Given the description of an element on the screen output the (x, y) to click on. 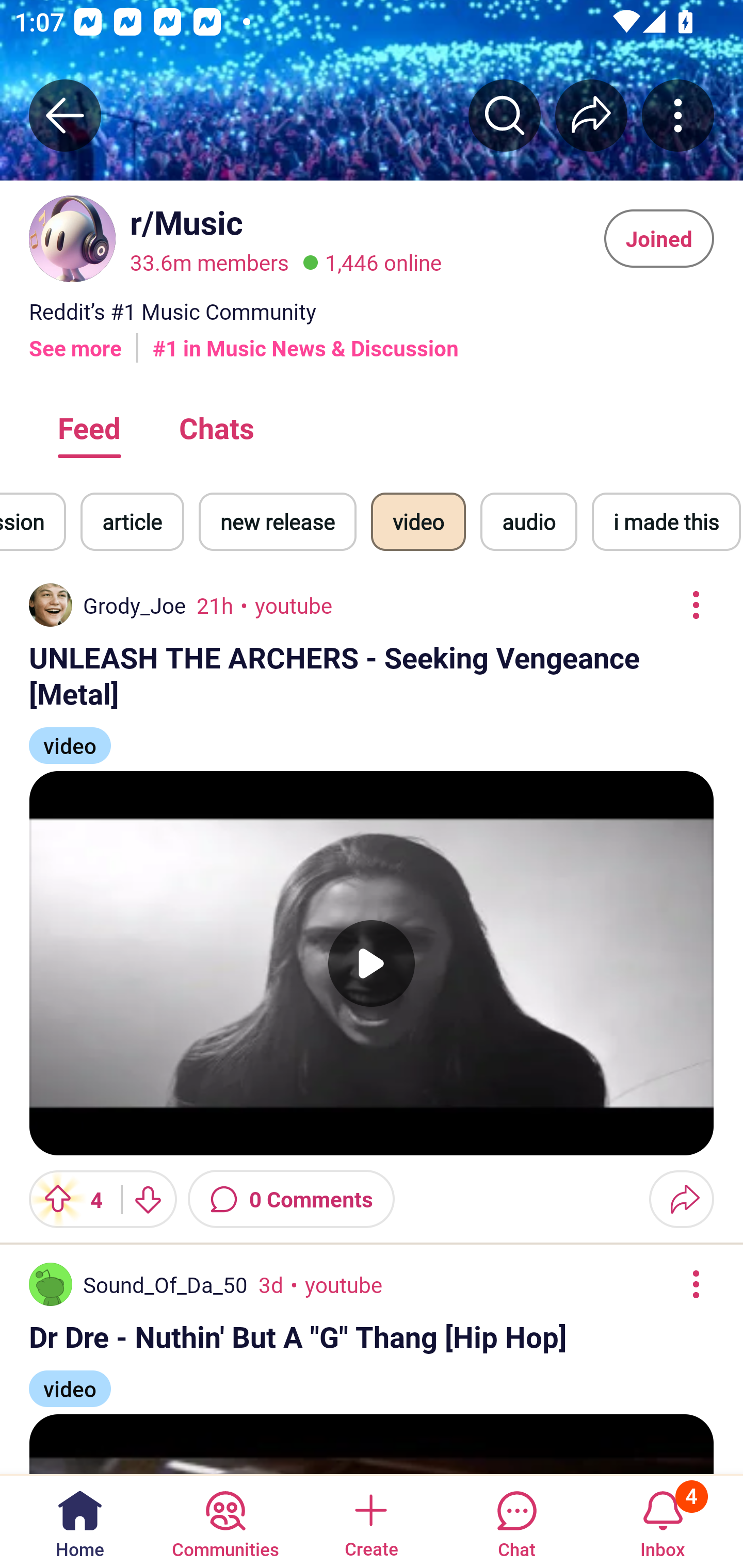
Back (64, 115)
Search r/﻿Music (504, 115)
Share r/﻿Music (591, 115)
More community actions (677, 115)
Chats (216, 427)
article (132, 521)
new release (277, 521)
video (417, 521)
audio (528, 521)
i made this (666, 521)
video (69, 736)
video (69, 1379)
Home (80, 1520)
Communities (225, 1520)
Create a post Create (370, 1520)
Chat (516, 1520)
Inbox, has 4 notifications 4 Inbox (662, 1520)
